Given the description of an element on the screen output the (x, y) to click on. 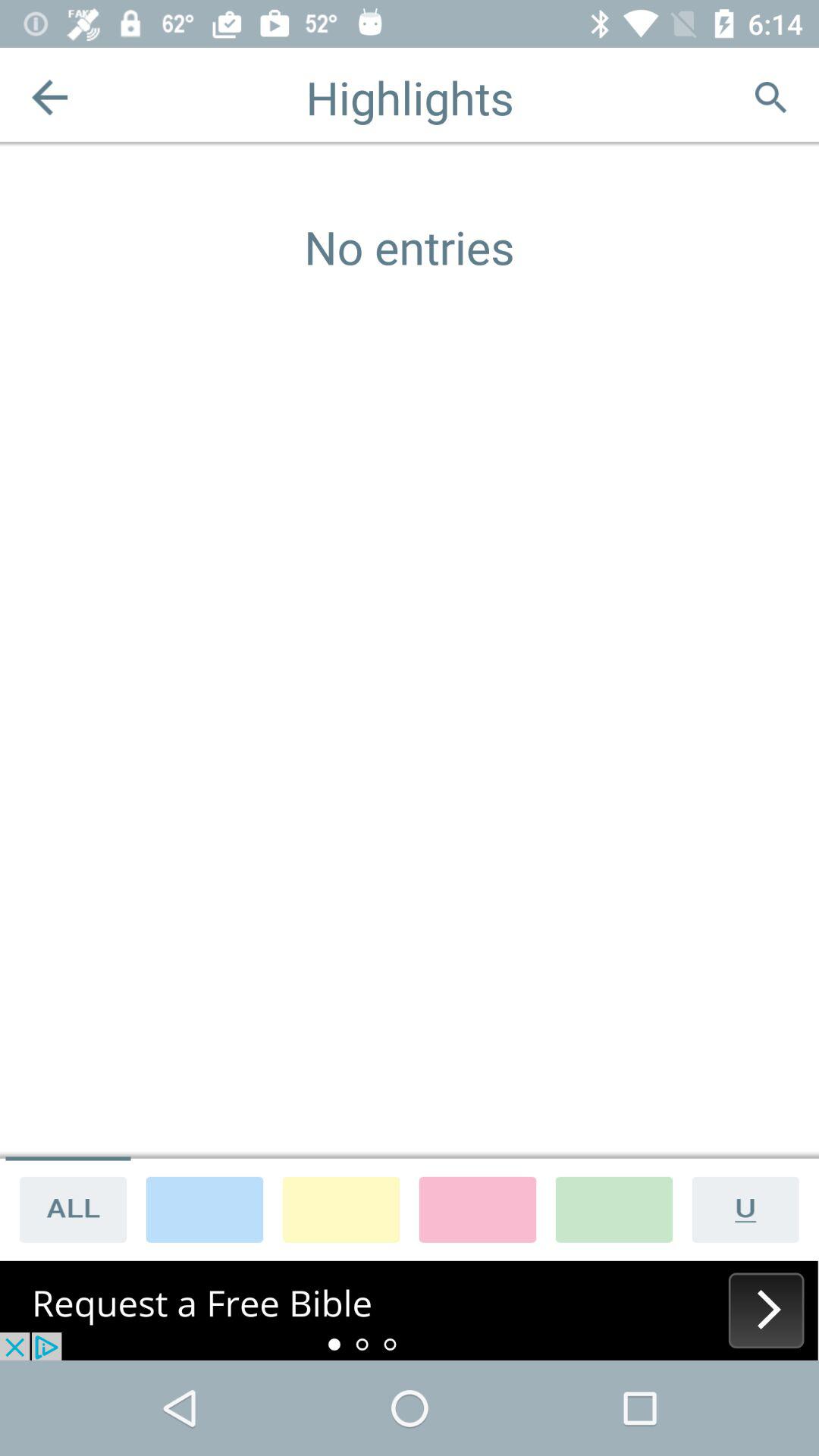
change color (477, 1208)
